Given the description of an element on the screen output the (x, y) to click on. 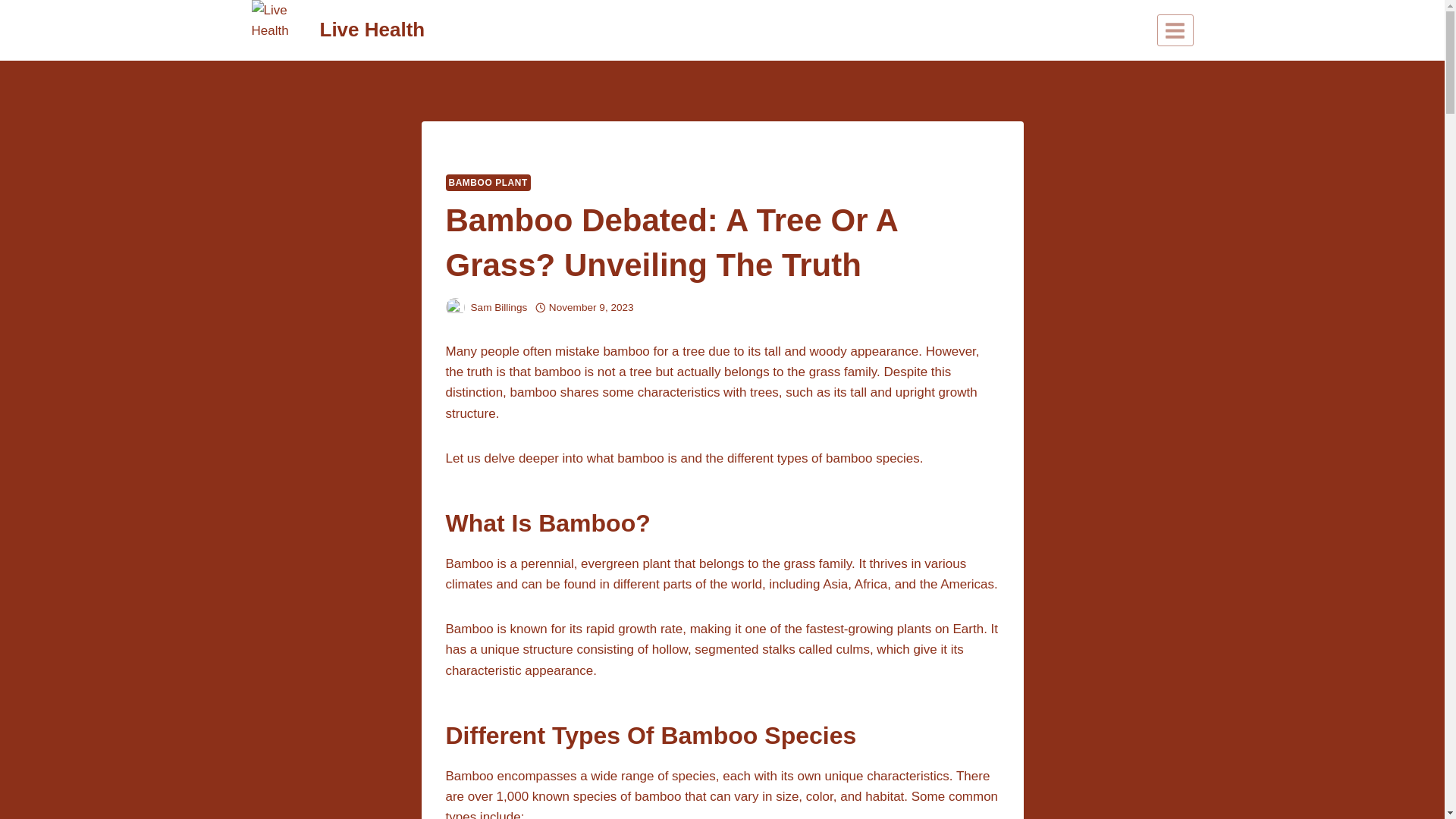
Home (460, 153)
Bamboo Plant (518, 153)
BAMBOO PLANT (488, 182)
Live Health (338, 30)
